Given the description of an element on the screen output the (x, y) to click on. 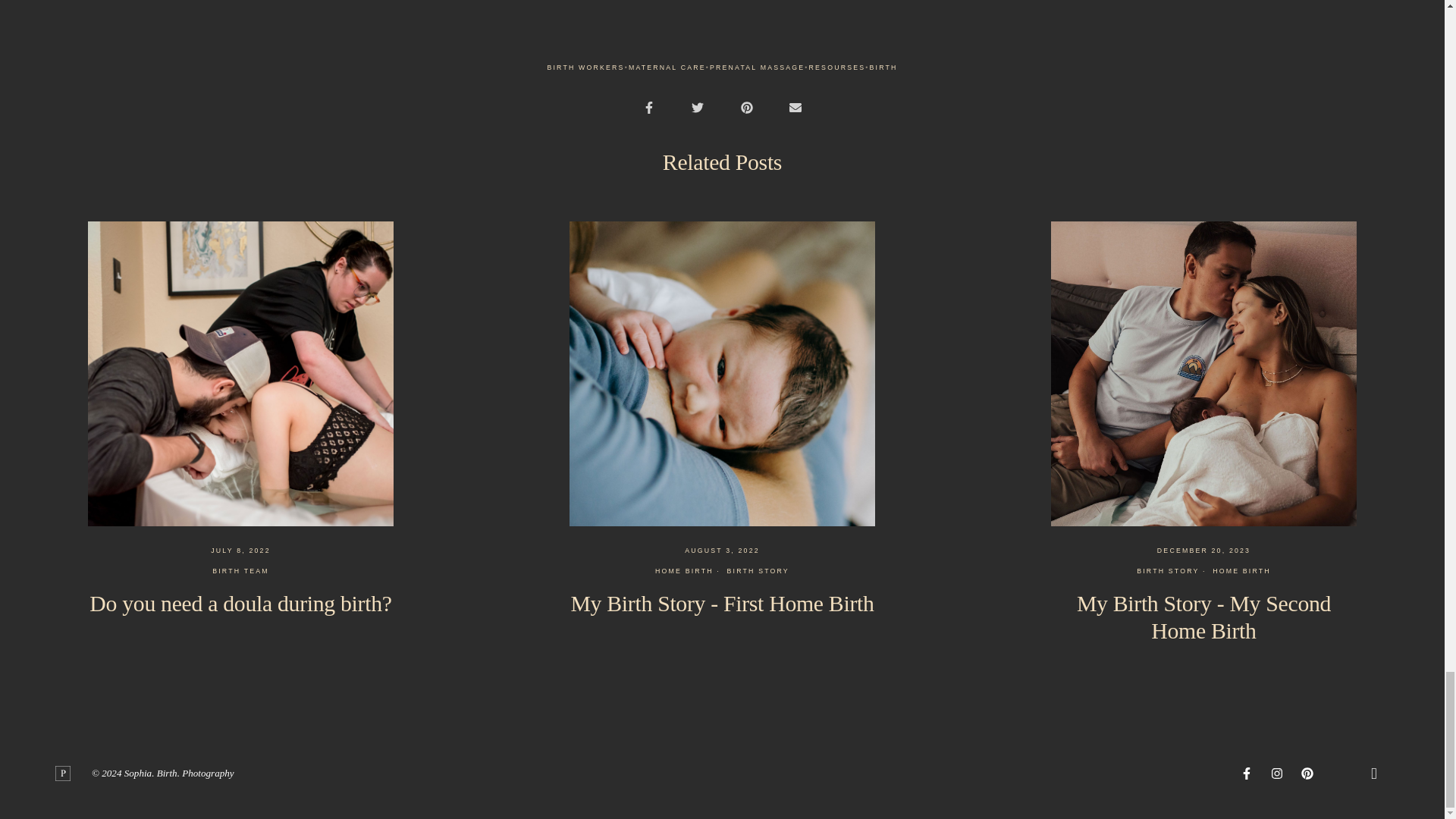
BIRTH TEAM (240, 571)
BIRTH STORY (757, 571)
HOME BIRTH (1241, 571)
BIRTH (882, 67)
